Given the description of an element on the screen output the (x, y) to click on. 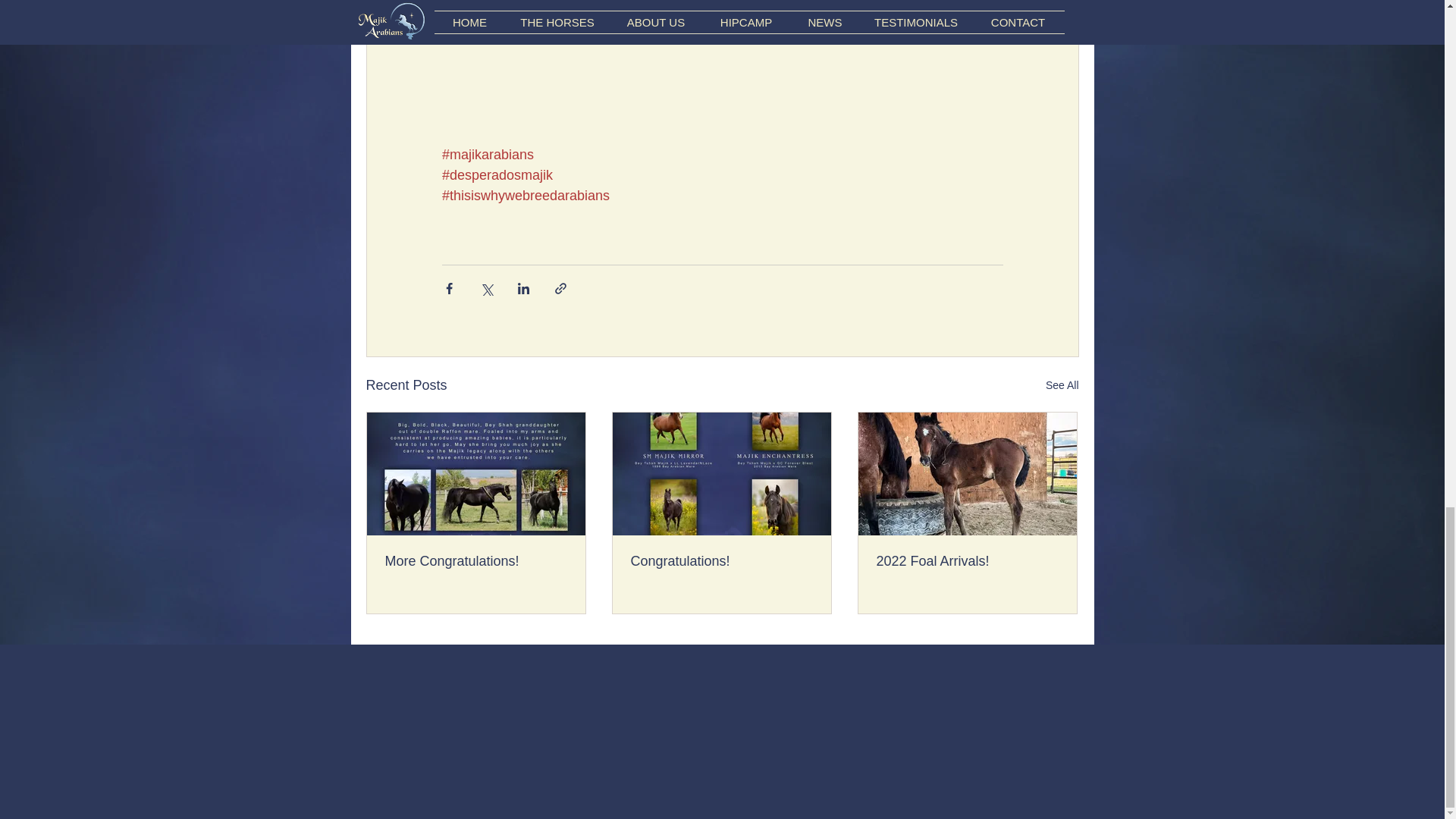
More Congratulations! (476, 561)
See All (1061, 385)
Congratulations! (721, 561)
2022 Foal Arrivals! (967, 561)
